Given the description of an element on the screen output the (x, y) to click on. 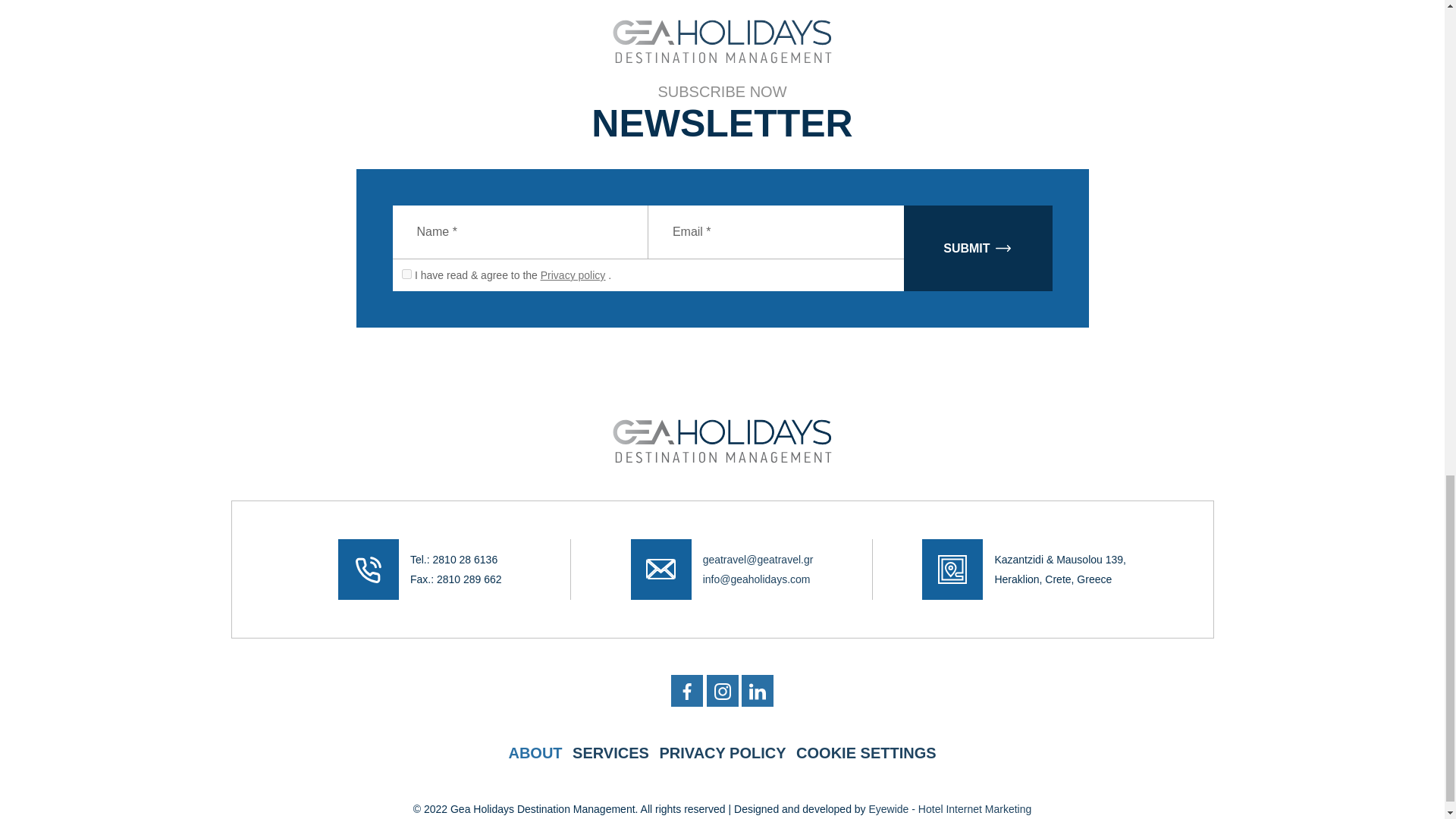
true (406, 274)
linkedin  (757, 690)
instagram (722, 690)
Facebook (687, 690)
Eyewide - Hotel Internet Marketing (948, 808)
